Given the description of an element on the screen output the (x, y) to click on. 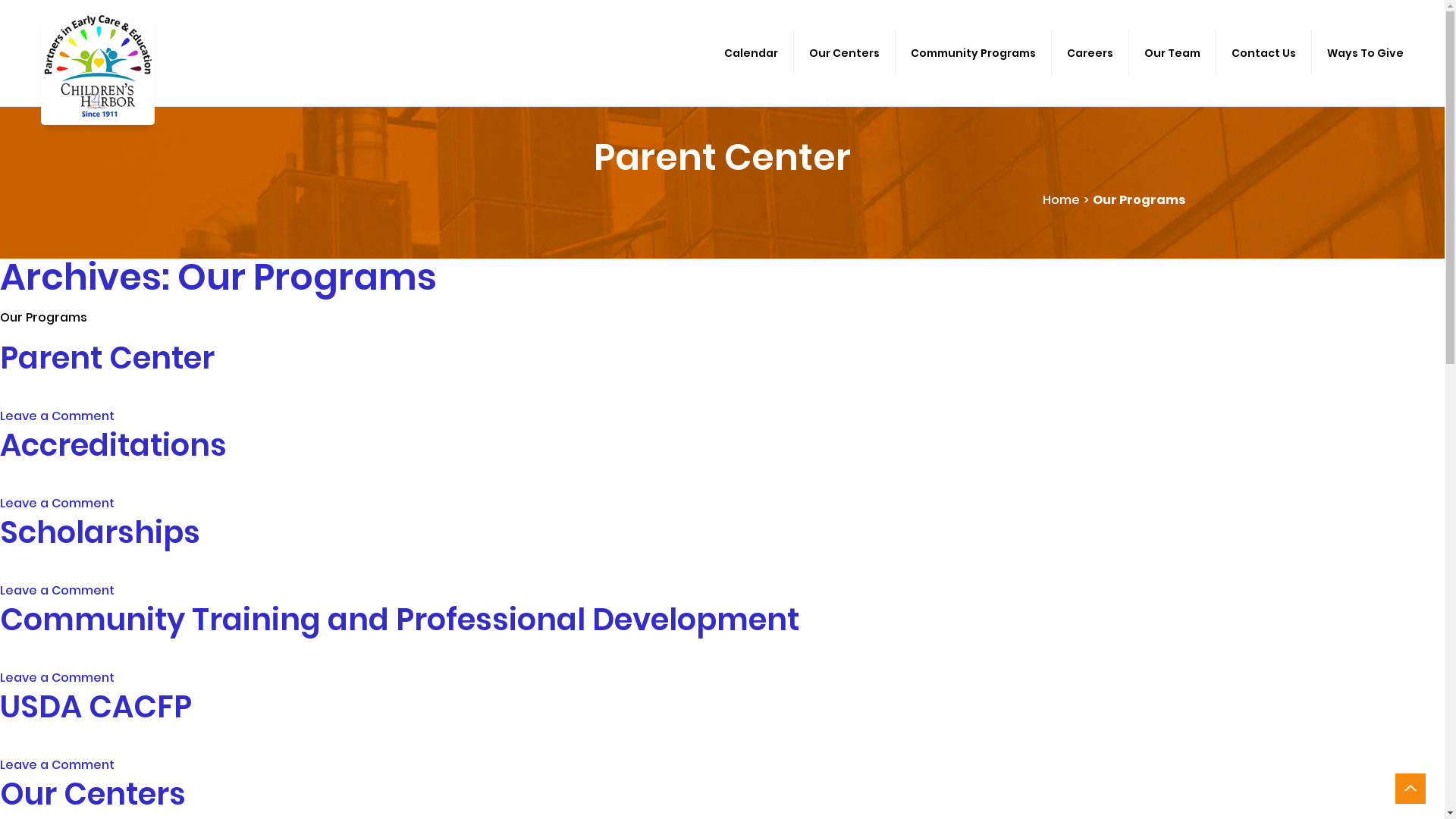
Leave a Comment
on Accreditations Element type: text (57, 503)
Contact Us Element type: text (1263, 53)
Parent Center Element type: text (107, 357)
Community Training and Professional Development Element type: text (399, 619)
Scholarships Element type: text (100, 532)
Search Element type: text (37, 14)
Children's Harbor Element type: hover (97, 68)
Children's Harbor Element type: hover (97, 68)
Our Centers Element type: text (92, 793)
Home Element type: text (1060, 200)
USDA CACFP Element type: text (95, 706)
Accreditations Element type: text (113, 445)
Careers Element type: text (1090, 53)
Ways To Give Element type: text (1364, 53)
Calendar Element type: text (751, 53)
Leave a Comment
on Parent Center Element type: text (57, 416)
Leave a Comment
on USDA CACFP Element type: text (57, 765)
Leave a Comment
on Scholarships Element type: text (57, 590)
Community Programs Element type: text (973, 53)
Our Team Element type: text (1172, 53)
Our Centers Element type: text (844, 53)
